Given the description of an element on the screen output the (x, y) to click on. 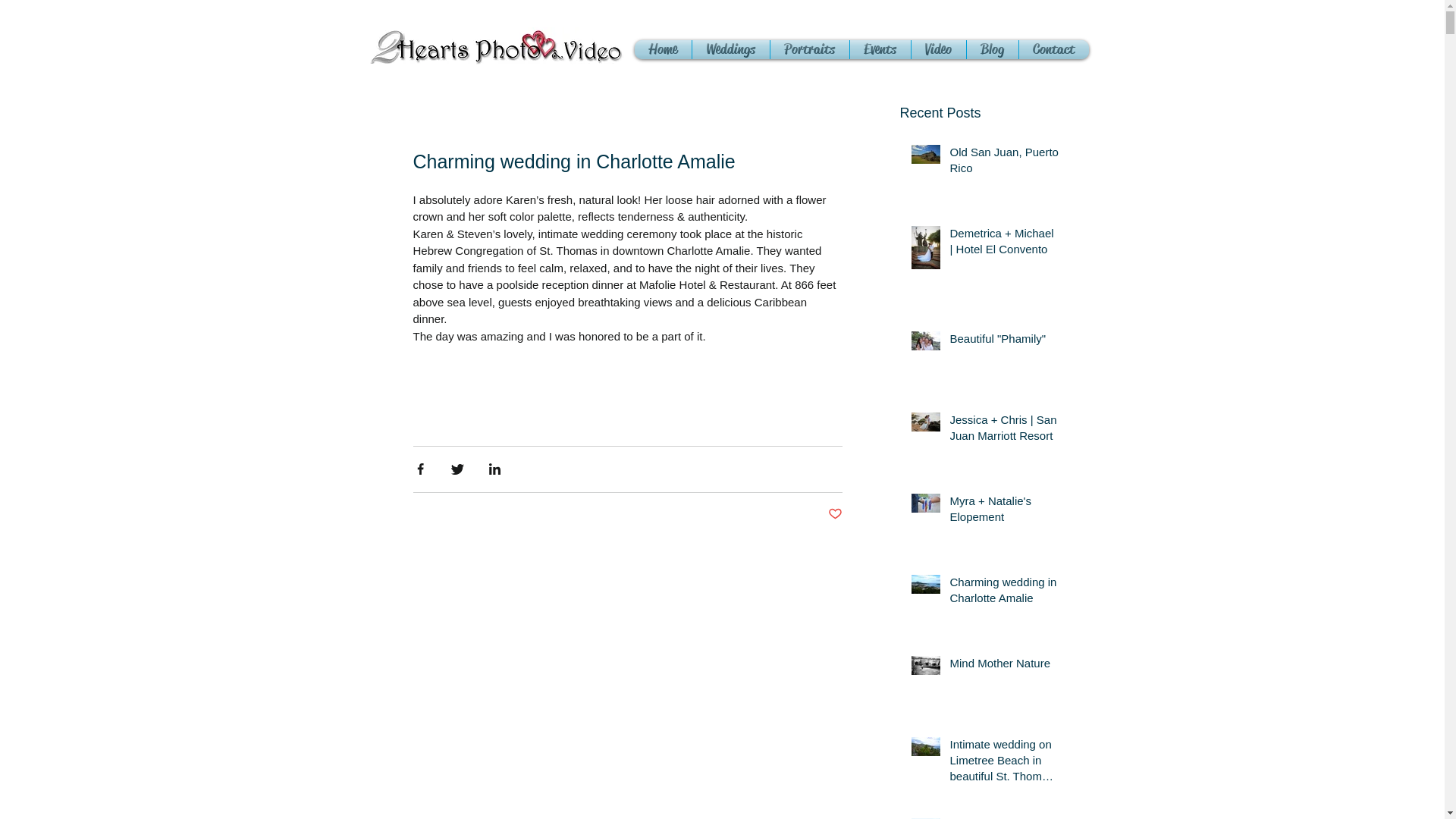
Events Element type: text (879, 49)
Beautiful "Phamily" Element type: text (1003, 341)
Demetrica + Michael | Hotel El Convento Element type: text (1003, 244)
Mind Mother Nature Element type: text (1003, 666)
Weddings Element type: text (729, 49)
Video Element type: text (938, 49)
Blog Element type: text (991, 49)
Portraits Element type: text (809, 49)
Contact Element type: text (1053, 49)
Jessica + Chris | San Juan Marriott Resort Element type: text (1003, 430)
Home Element type: text (661, 49)
Post not marked as liked Element type: text (835, 514)
Old San Juan, Puerto Rico Element type: text (1003, 163)
Myra + Natalie's Elopement Element type: text (1003, 511)
Charming wedding in Charlotte Amalie Element type: text (1003, 592)
2heartslogo.jpg Element type: hover (495, 46)
